Given the description of an element on the screen output the (x, y) to click on. 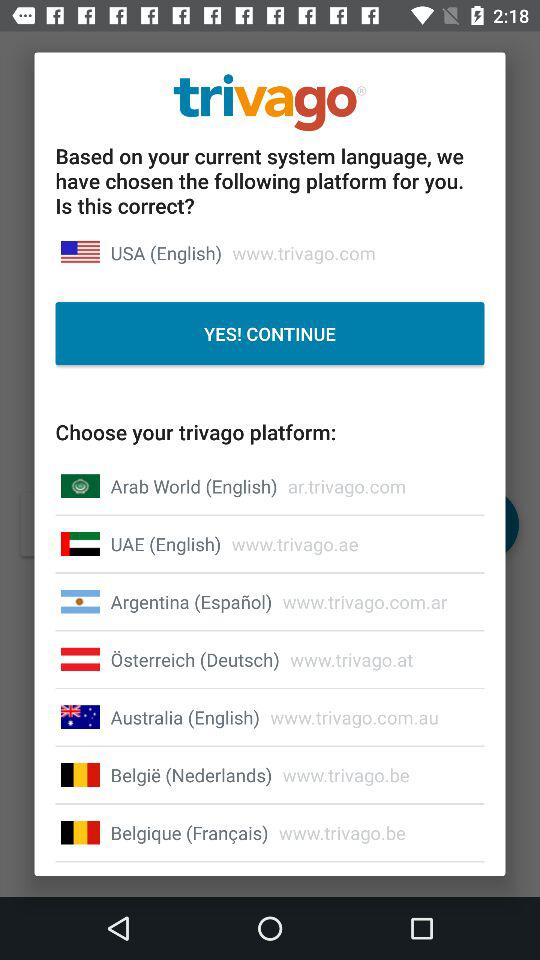
launch icon to the left of the www trivago com item (184, 717)
